Given the description of an element on the screen output the (x, y) to click on. 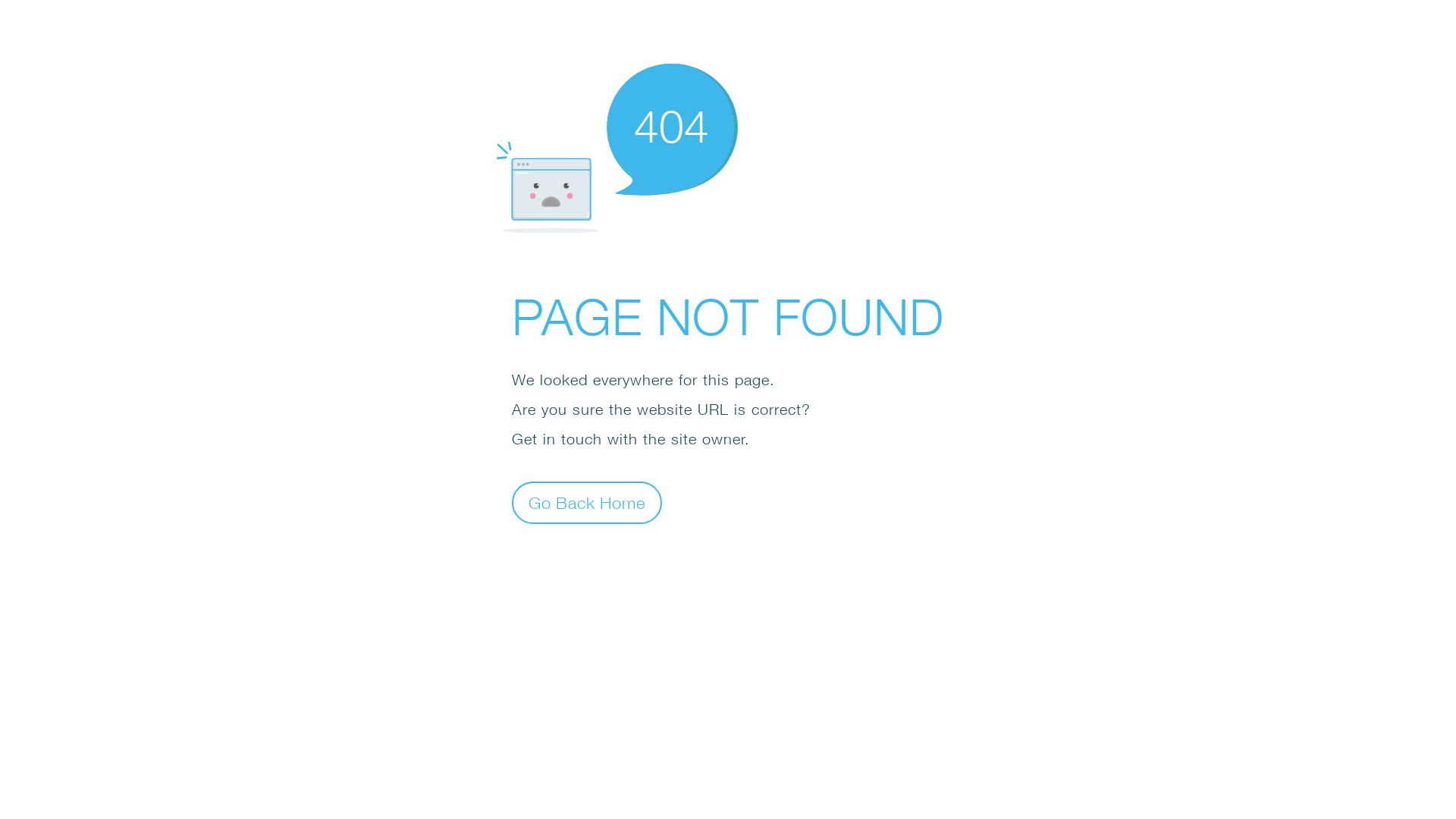
Go Back Home Element type: text (586, 502)
